Given the description of an element on the screen output the (x, y) to click on. 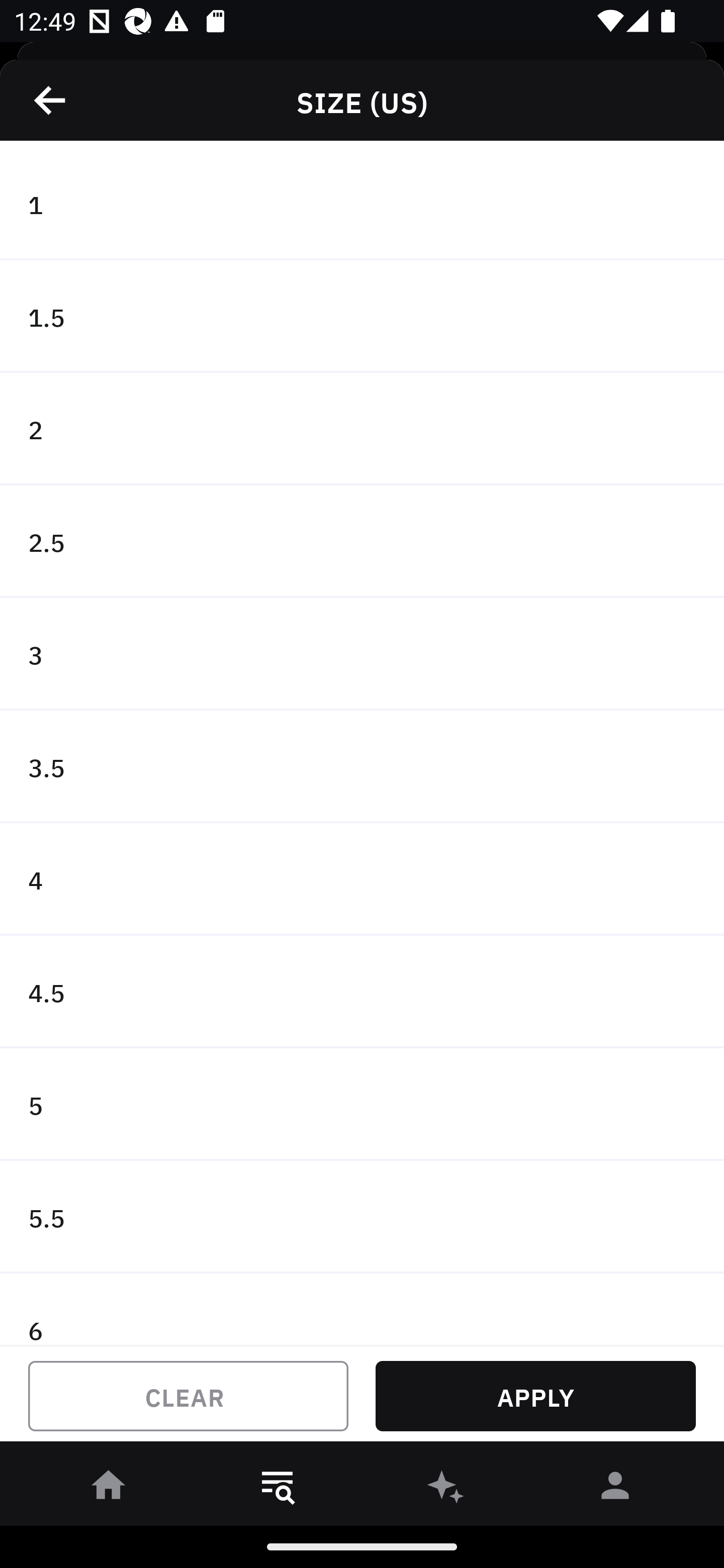
 (50, 100)
1 (362, 203)
1.5 (362, 316)
2 (362, 429)
2.5 (362, 541)
3 (362, 653)
3.5 (362, 766)
4 (362, 879)
4.5 (362, 992)
5 (362, 1104)
5.5 (362, 1216)
6 (362, 1309)
CLEAR  (188, 1396)
APPLY (535, 1396)
󰋜 (108, 1488)
󱎸 (277, 1488)
󰫢 (446, 1488)
󰀄 (615, 1488)
